Given the description of an element on the screen output the (x, y) to click on. 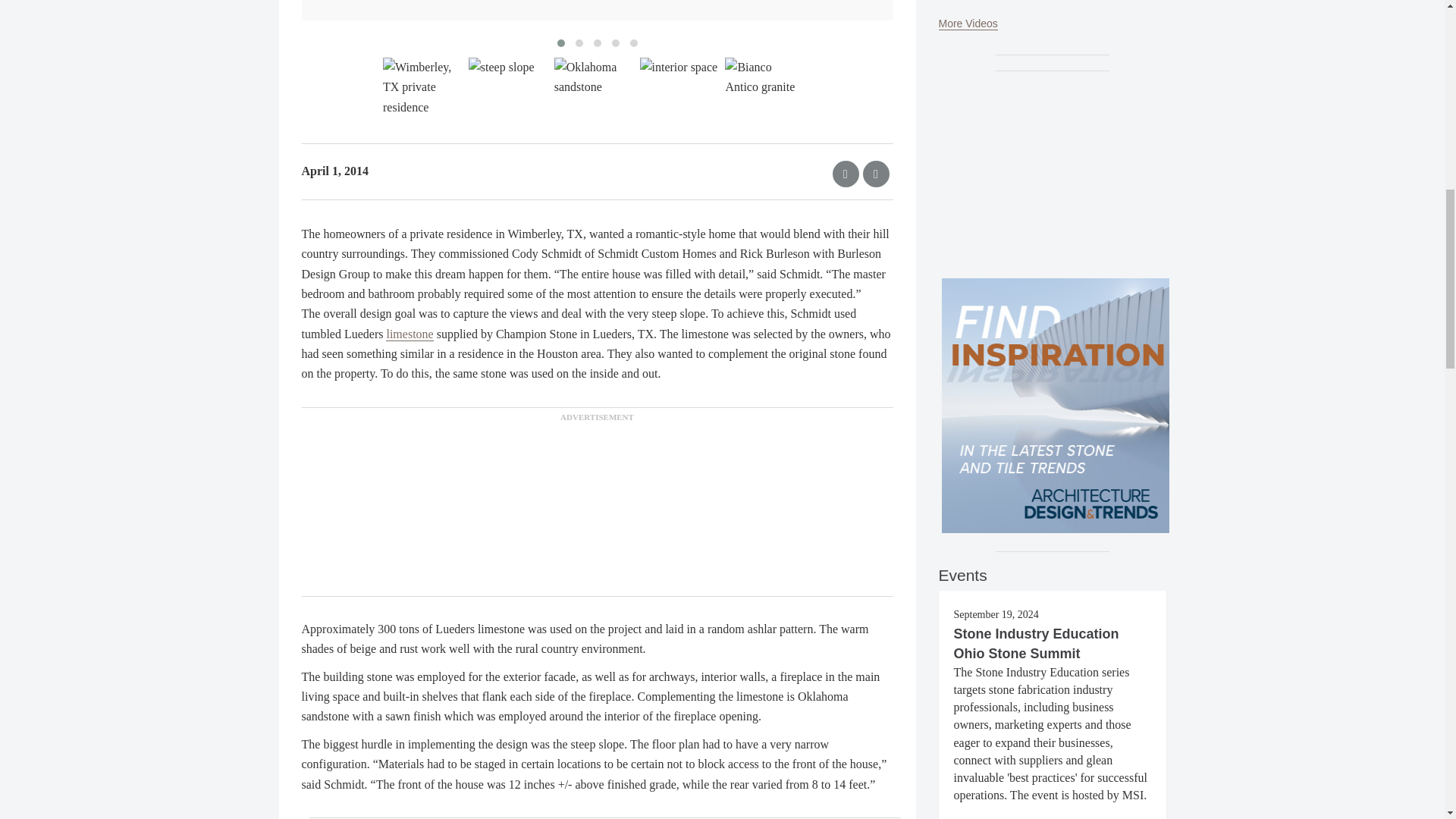
Stone Industry Education Ohio Stone Summit (1036, 643)
